Given the description of an element on the screen output the (x, y) to click on. 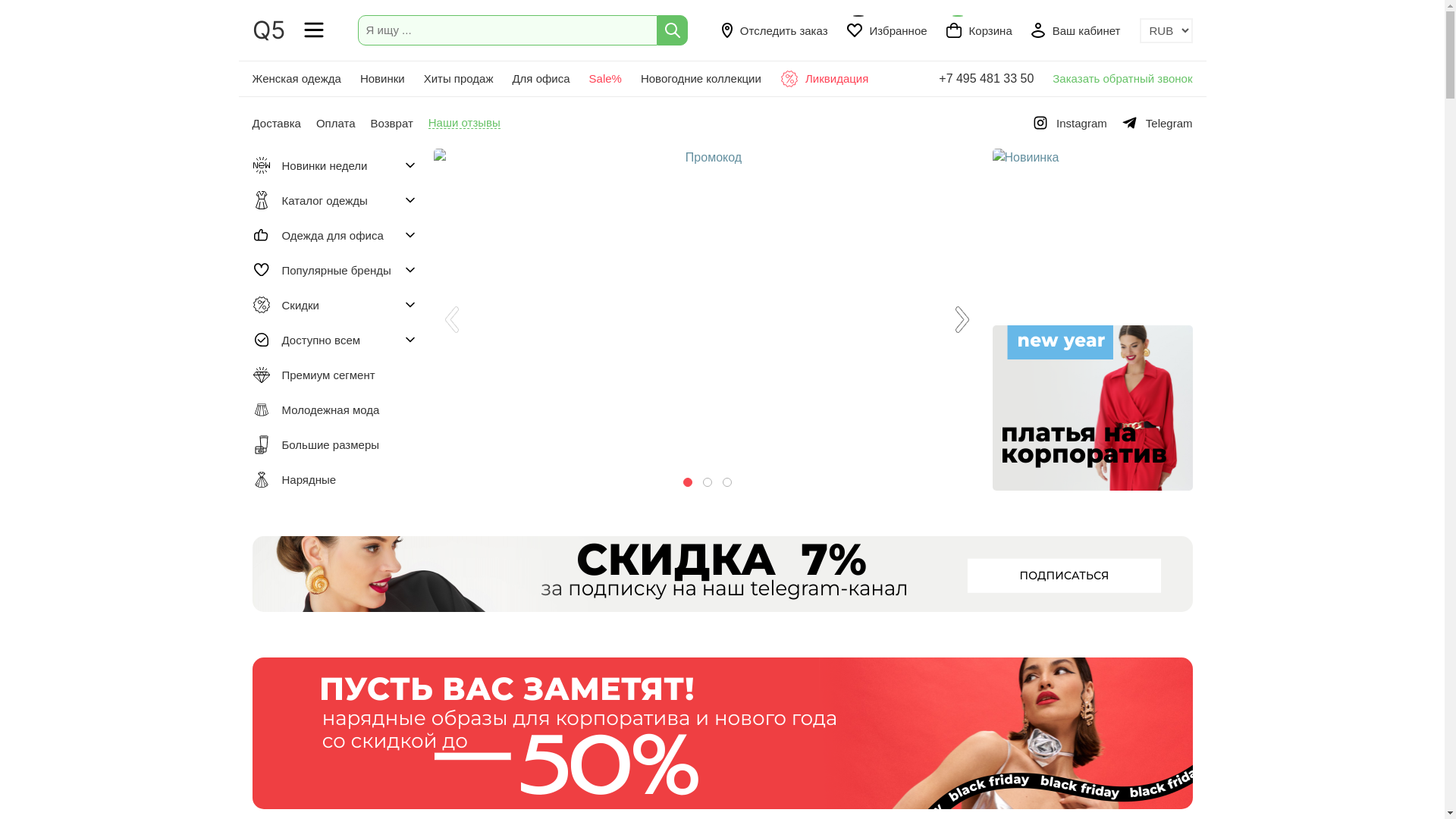
          RUB
          BYN
          
         Element type: text (1165, 30)
Q5 Element type: text (267, 29)
Telegram Element type: text (1157, 122)
Instagram Element type: text (1070, 122)
Sale% Element type: text (605, 78)
